Given the description of an element on the screen output the (x, y) to click on. 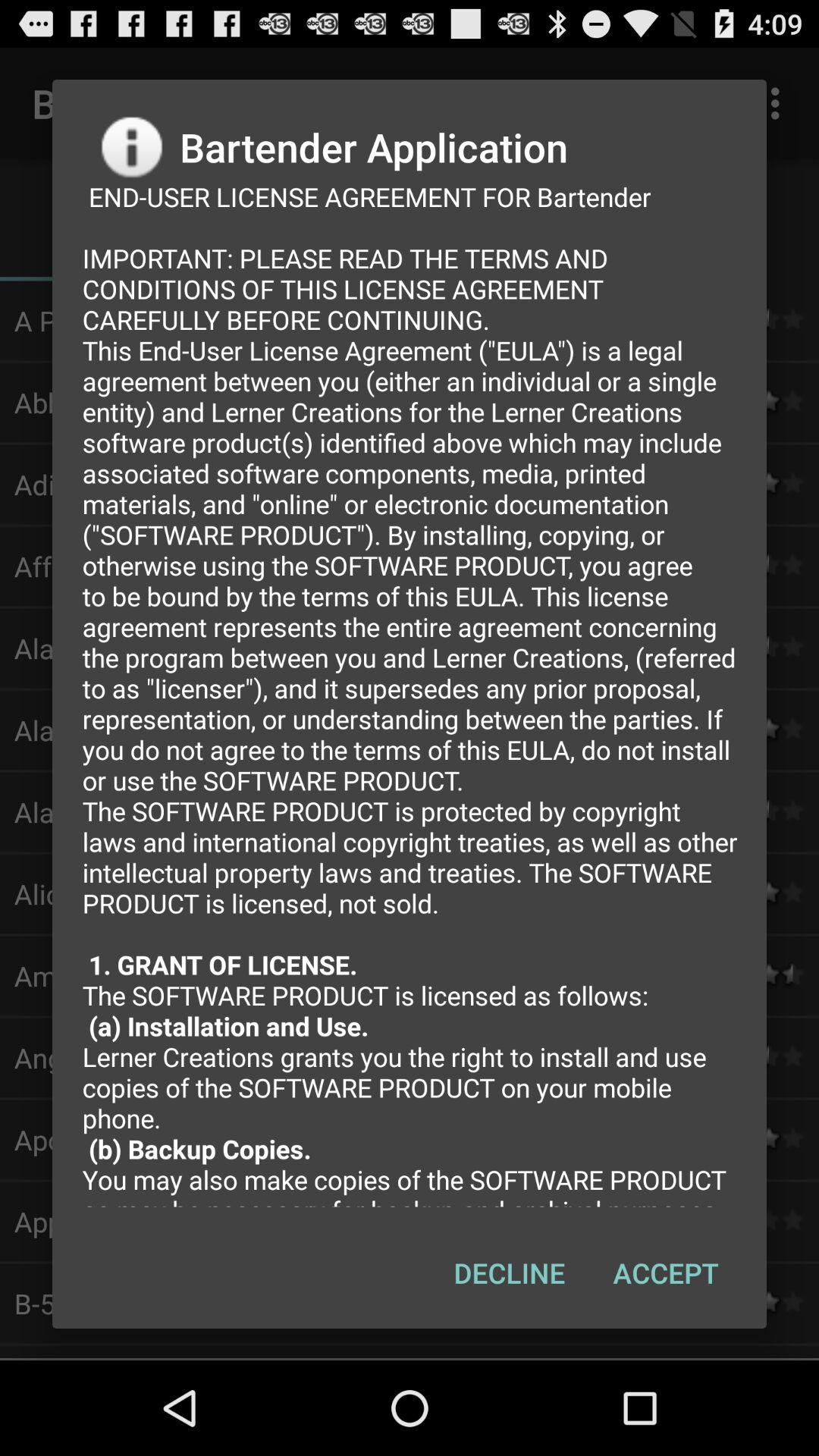
turn off button to the left of accept icon (509, 1272)
